Given the description of an element on the screen output the (x, y) to click on. 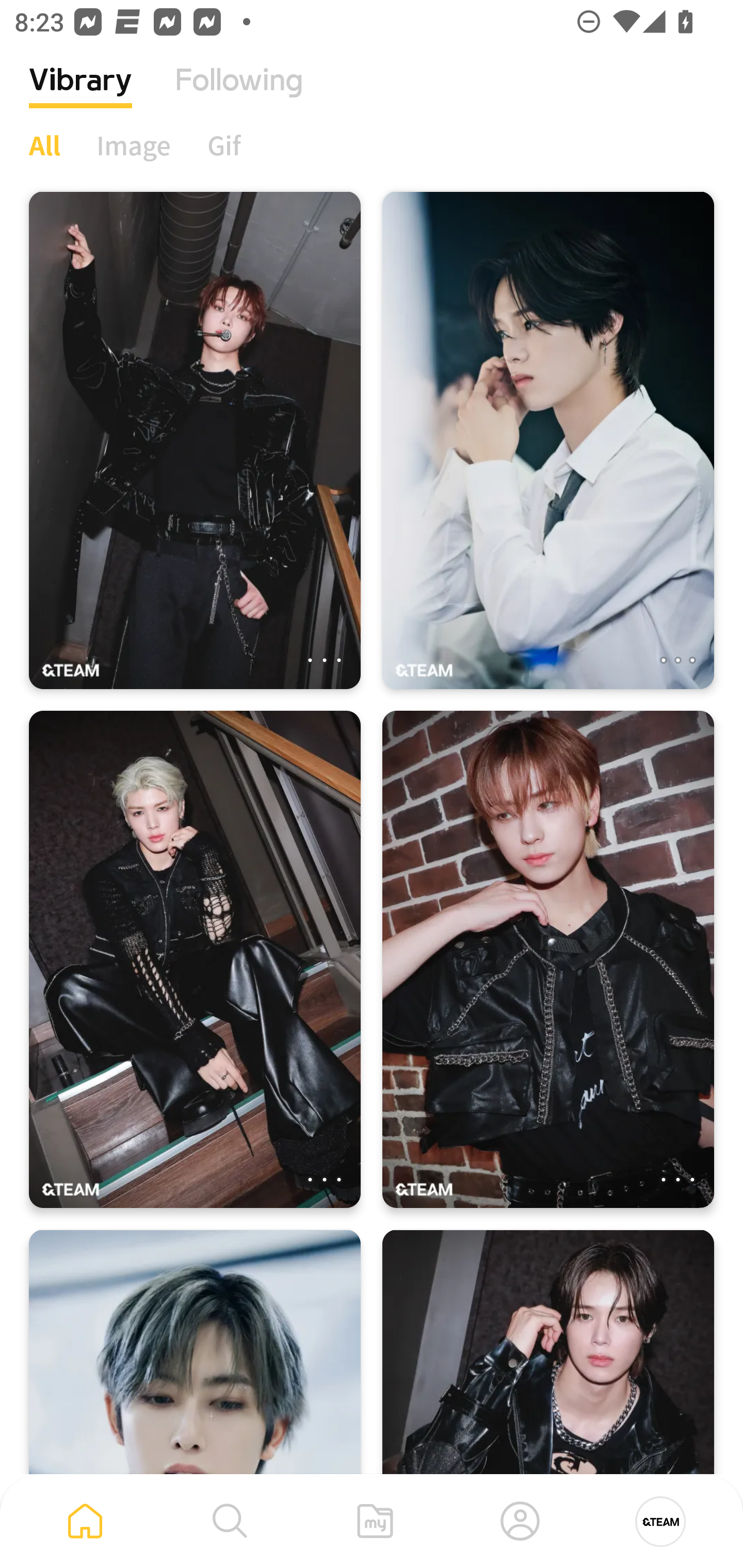
Vibrary (80, 95)
Following (239, 95)
All (44, 145)
Image (133, 145)
Gif (223, 145)
